Given the description of an element on the screen output the (x, y) to click on. 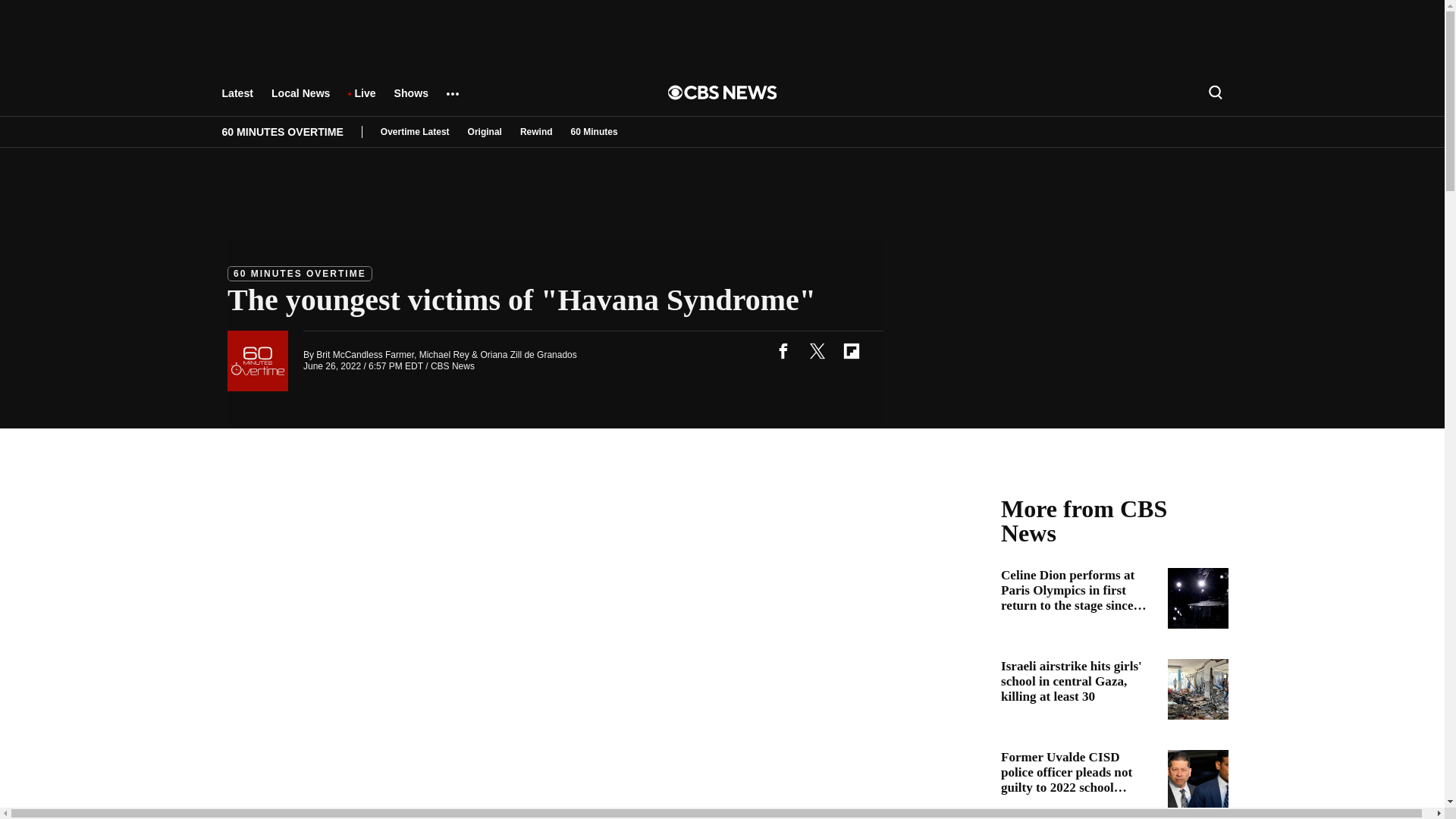
Latest (236, 100)
Local News (300, 100)
facebook (782, 350)
flipboard (850, 350)
twitter (816, 350)
